Given the description of an element on the screen output the (x, y) to click on. 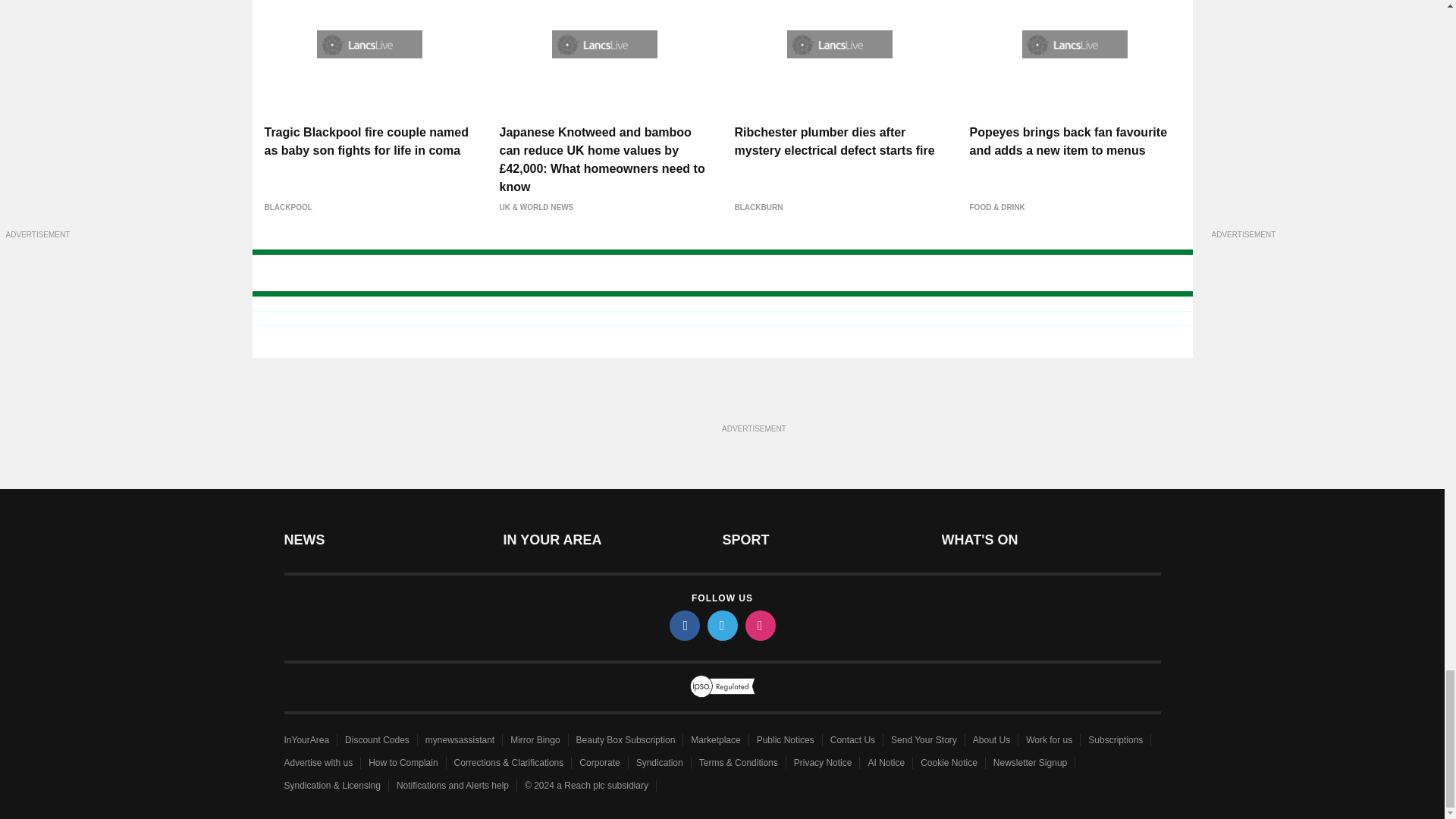
facebook (683, 625)
